Given the description of an element on the screen output the (x, y) to click on. 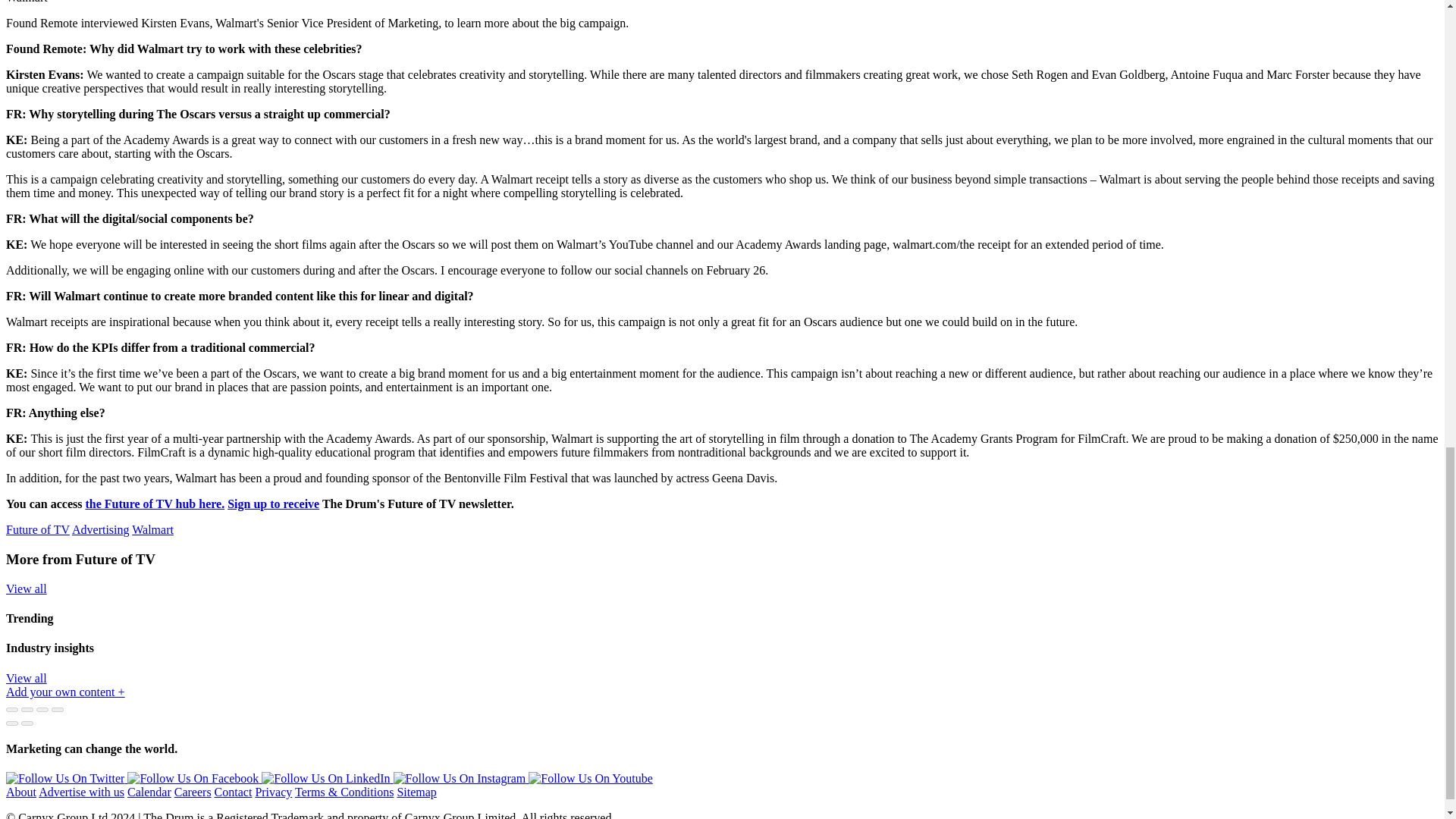
View all (25, 588)
Walmart (152, 529)
Toggle fullscreen (42, 709)
Share (27, 709)
Calendar (149, 791)
Advertise with us (81, 791)
View all (25, 677)
the Future of TV hub here. (154, 503)
Advertising (100, 529)
Careers (192, 791)
Sign up to receive (272, 503)
About (20, 791)
Future of TV (37, 529)
